Given the description of an element on the screen output the (x, y) to click on. 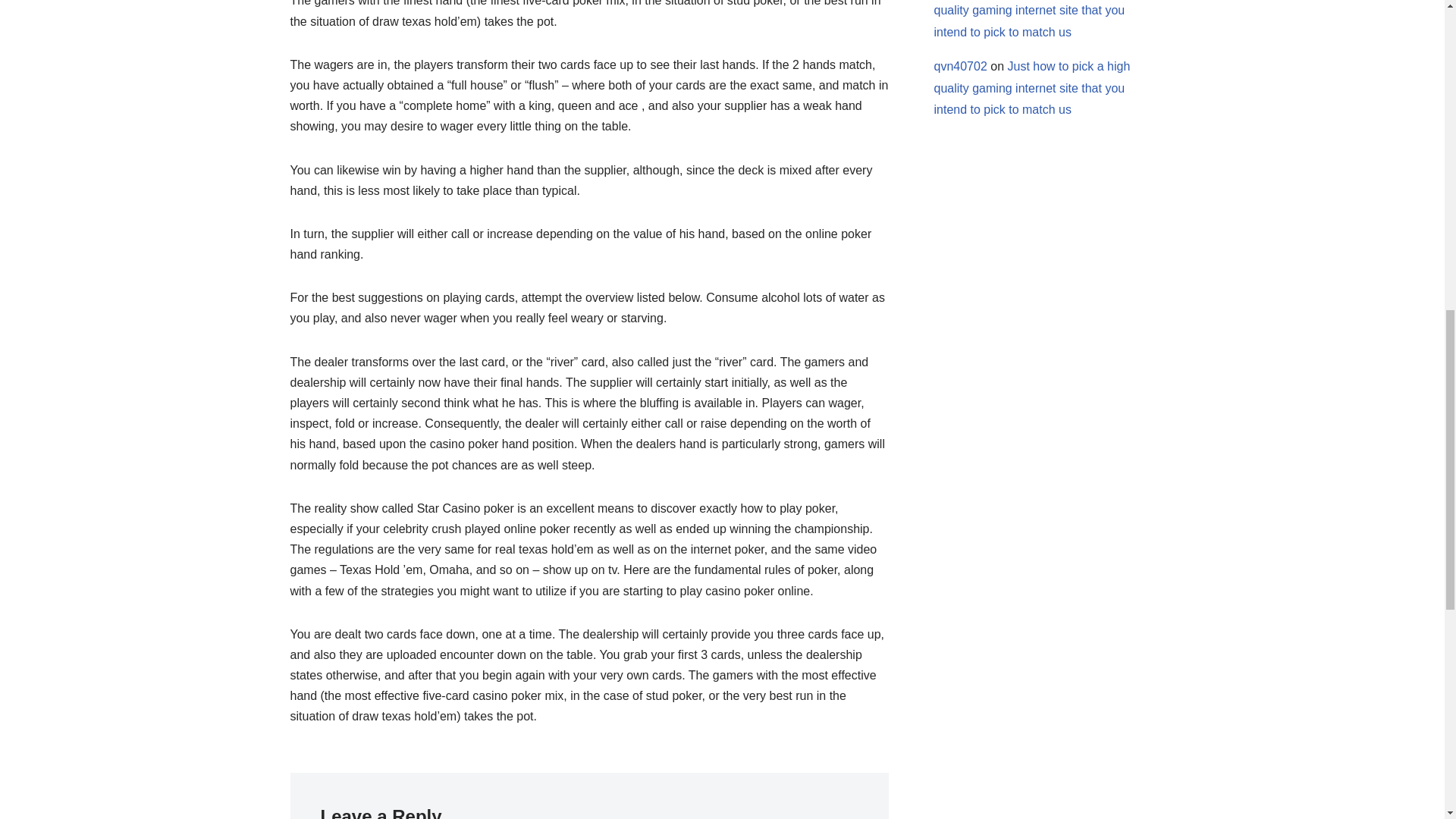
qvn40702 (960, 65)
